Given the description of an element on the screen output the (x, y) to click on. 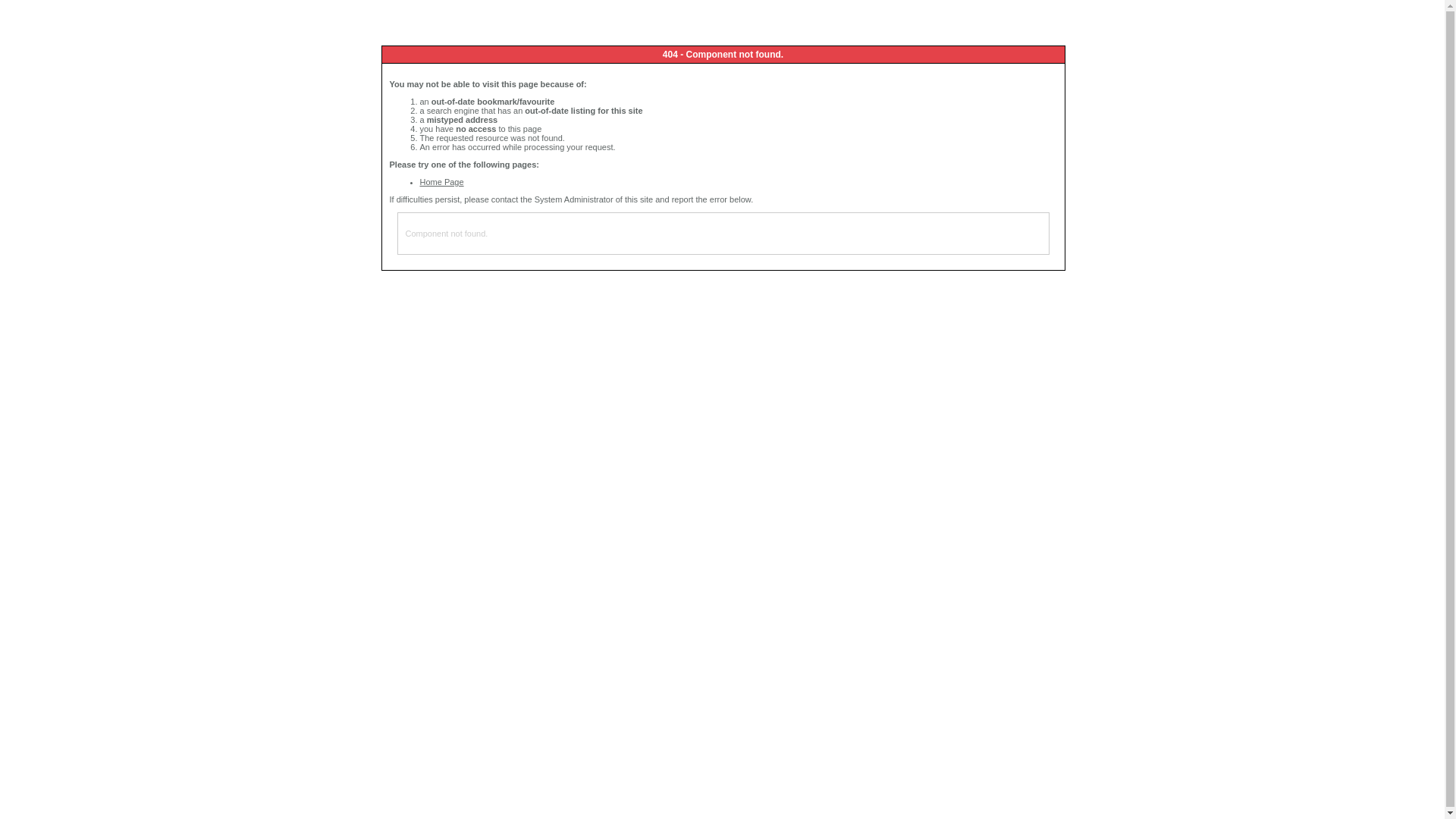
Home Page Element type: text (442, 181)
